Given the description of an element on the screen output the (x, y) to click on. 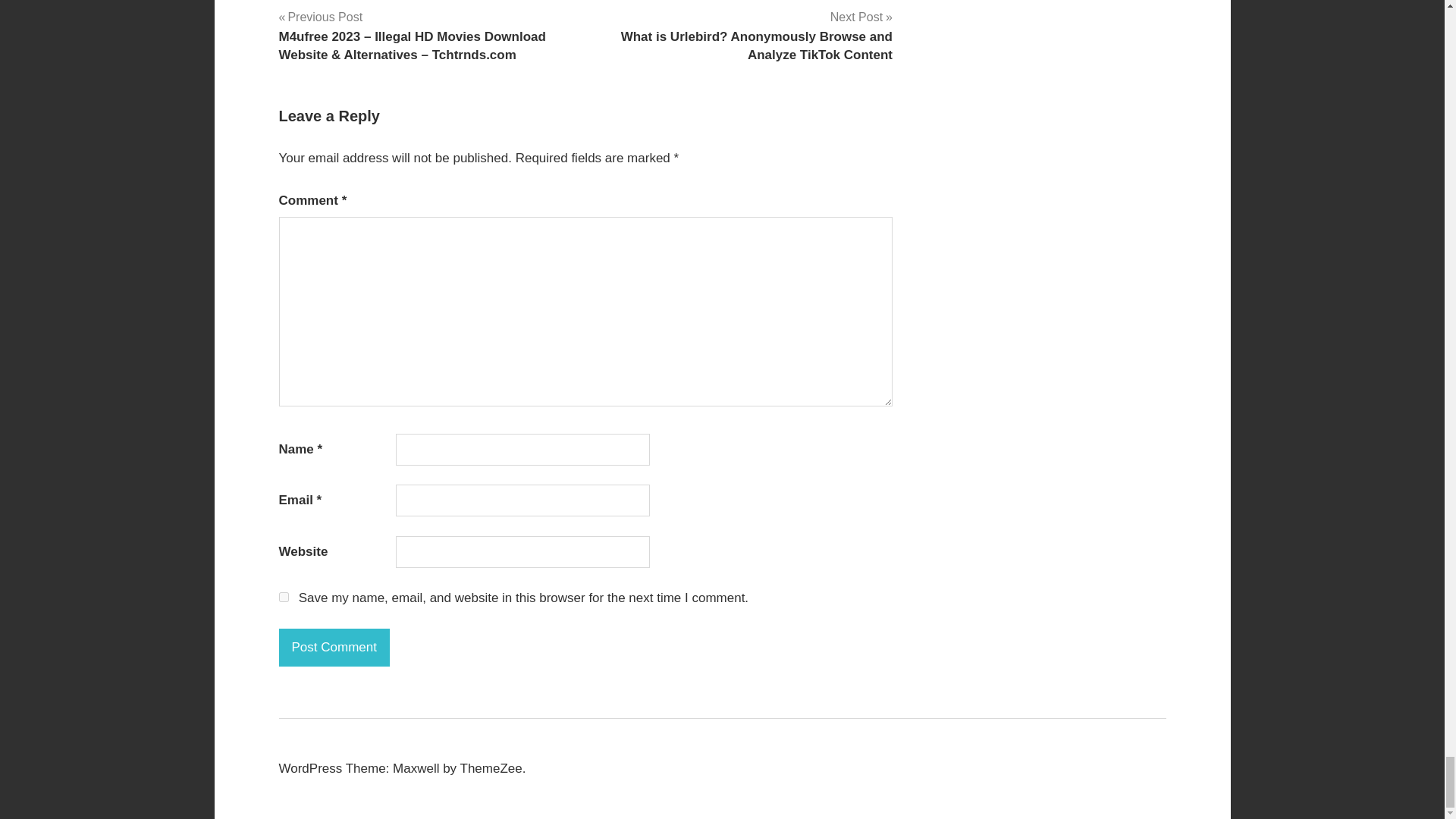
Post Comment (334, 647)
yes (283, 596)
